Given the description of an element on the screen output the (x, y) to click on. 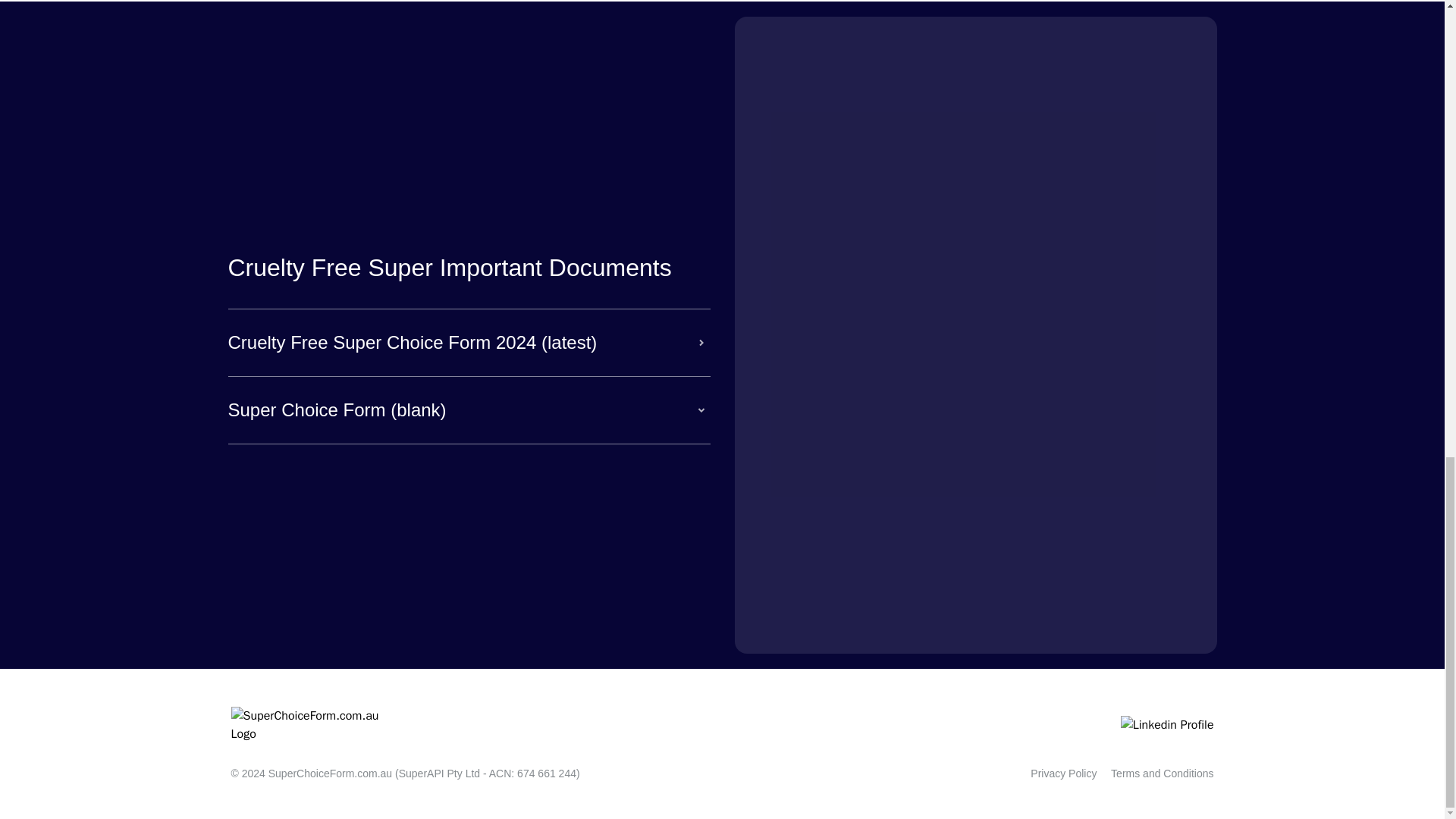
Terms and Conditions (1161, 773)
Privacy Policy (1063, 773)
SuperAPI (421, 773)
